Given the description of an element on the screen output the (x, y) to click on. 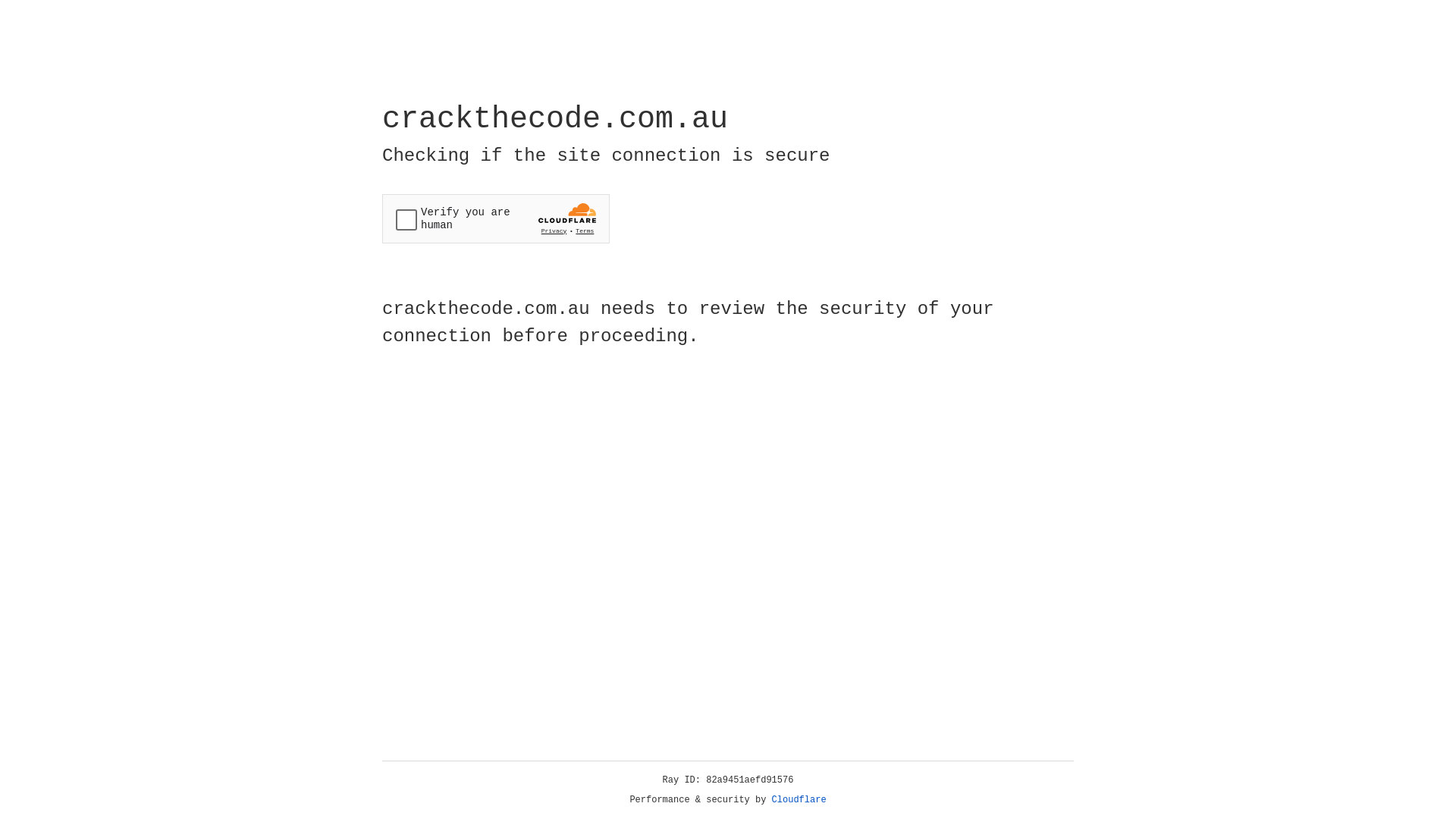
Cloudflare Element type: text (798, 799)
Widget containing a Cloudflare security challenge Element type: hover (495, 218)
